Given the description of an element on the screen output the (x, y) to click on. 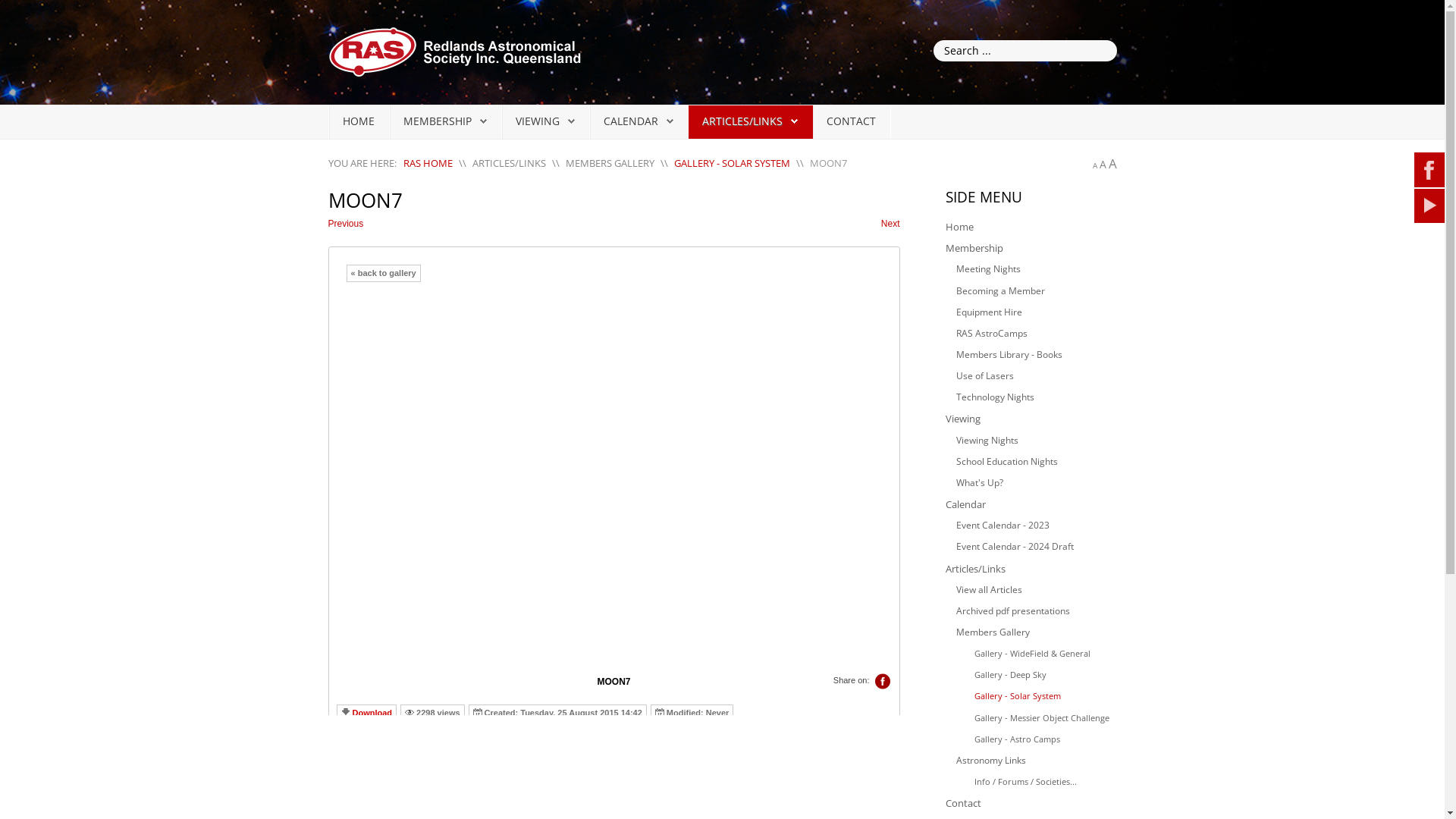
Contact Element type: text (1030, 802)
Gallery - Deep Sky Element type: text (1041, 674)
VIEWING Element type: text (537, 120)
CONTACT Element type: text (850, 120)
RAS HOME Element type: text (427, 162)
Gallery - Solar System Element type: text (1041, 695)
Previous Element type: text (345, 223)
CALENDAR Element type: text (630, 120)
MEMBERSHIP Element type: text (444, 120)
GALLERY - SOLAR SYSTEM Element type: text (731, 162)
Event Calendar - 2023 Element type: text (1035, 525)
Members Library - Books Element type: text (1035, 354)
A Element type: text (1094, 165)
Download Element type: text (371, 712)
Use of Lasers Element type: text (1035, 375)
Gallery - Messier Object Challenge Element type: text (1041, 717)
Viewing Nights Element type: text (1035, 440)
CALENDAR Element type: text (638, 120)
Gallery - WideField & General Element type: text (1041, 653)
View all Articles Element type: text (1035, 589)
School Education Nights Element type: text (1035, 461)
Share on Facebook Element type: hover (882, 681)
Next Element type: text (890, 223)
Event Calendar - 2024 Draft Element type: text (1035, 546)
ARTICLES/LINKS Element type: text (742, 120)
Archived pdf presentations Element type: text (1035, 610)
Technology Nights Element type: text (1035, 396)
MEMBERSHIP Element type: text (437, 120)
What's Up? Element type: text (1035, 482)
VIEWING Element type: text (544, 120)
ARTICLES/LINKS Element type: text (749, 120)
A Element type: text (1112, 163)
Becoming a Member Element type: text (1035, 290)
Home Element type: text (1030, 226)
Info / Forums / Societies... Element type: text (1041, 781)
Gallery - Astro Camps Element type: text (1041, 738)
Equipment Hire Element type: text (1035, 312)
RAS AstroCamps Element type: text (1035, 333)
HOME Element type: text (358, 120)
A Element type: text (1102, 163)
Meeting Nights Element type: text (1035, 268)
